Given the description of an element on the screen output the (x, y) to click on. 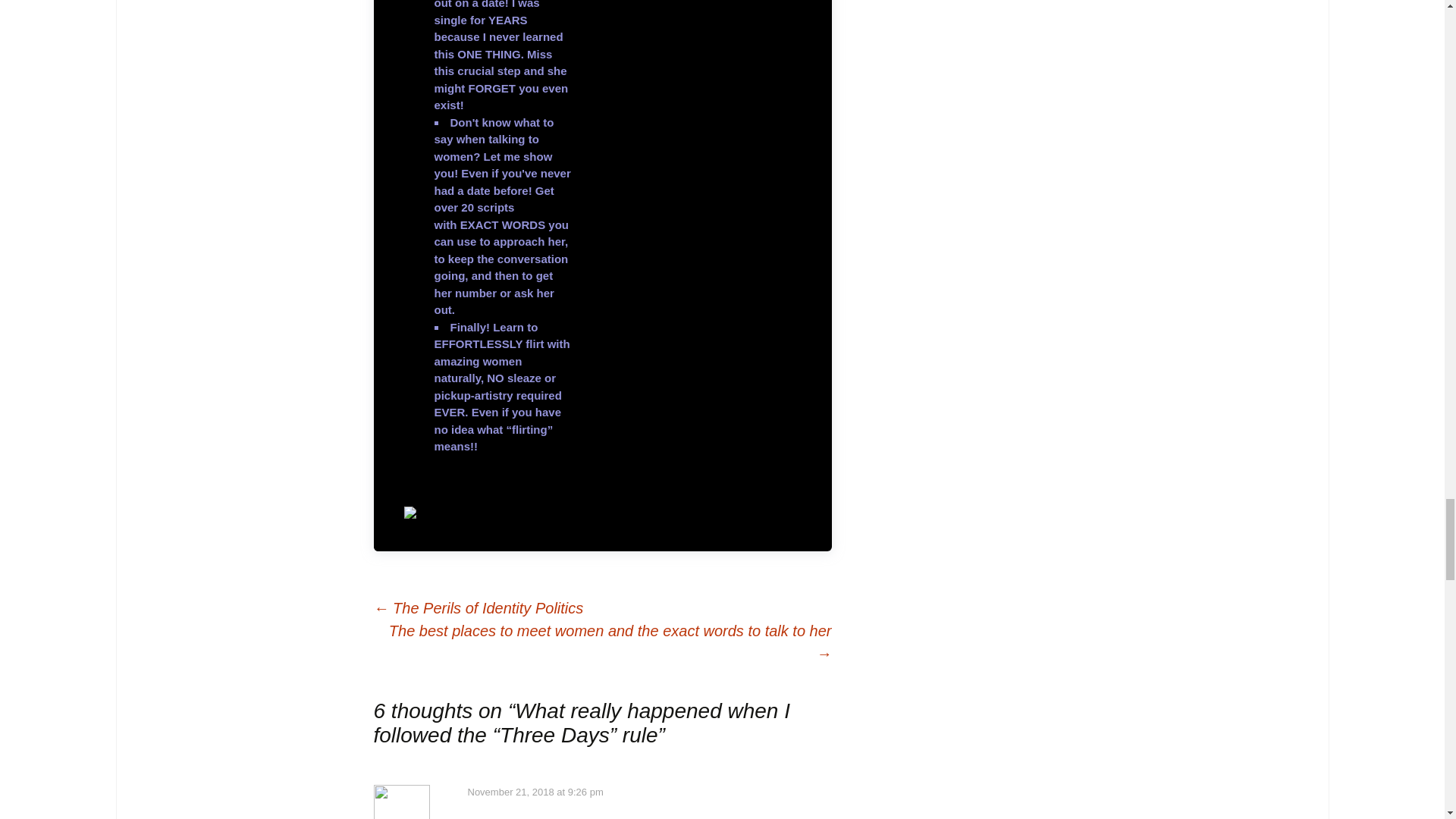
November 21, 2018 at 9:26 pm (534, 791)
